Given the description of an element on the screen output the (x, y) to click on. 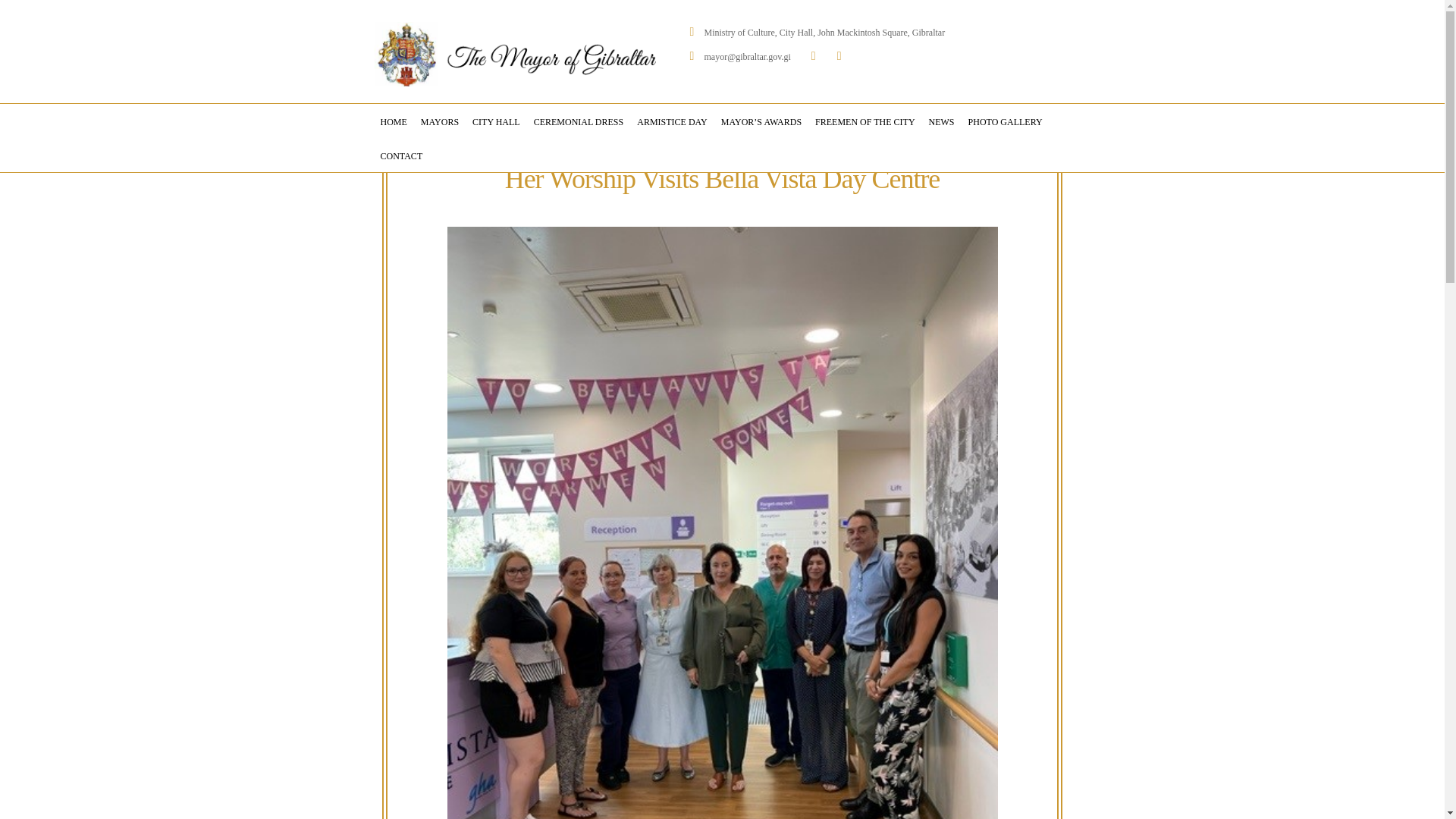
FREEMEN OF THE CITY (864, 121)
PHOTO GALLERY (1004, 121)
HOME (392, 121)
MAYORS (439, 121)
CITY HALL (496, 121)
NEWS (940, 121)
CONTACT (400, 154)
CEREMONIAL DRESS (578, 121)
ARMISTICE DAY (672, 121)
